Given the description of an element on the screen output the (x, y) to click on. 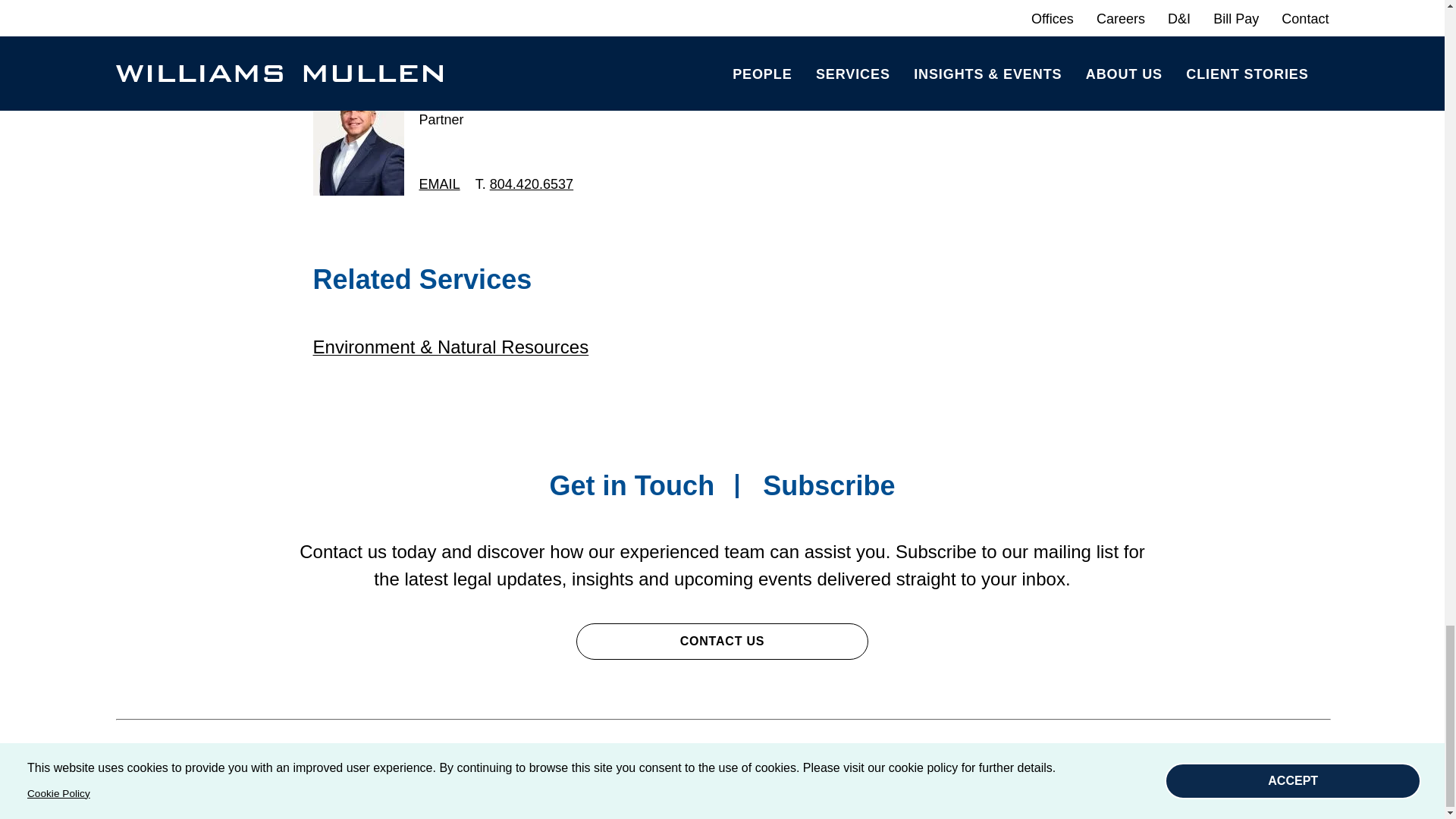
CONTACT US (721, 641)
EMAIL (439, 183)
Subscribe (828, 485)
Get in Touch (631, 485)
Henry R. "Speaker" Pollard, V (548, 95)
804.420.6537 (531, 183)
